Given the description of an element on the screen output the (x, y) to click on. 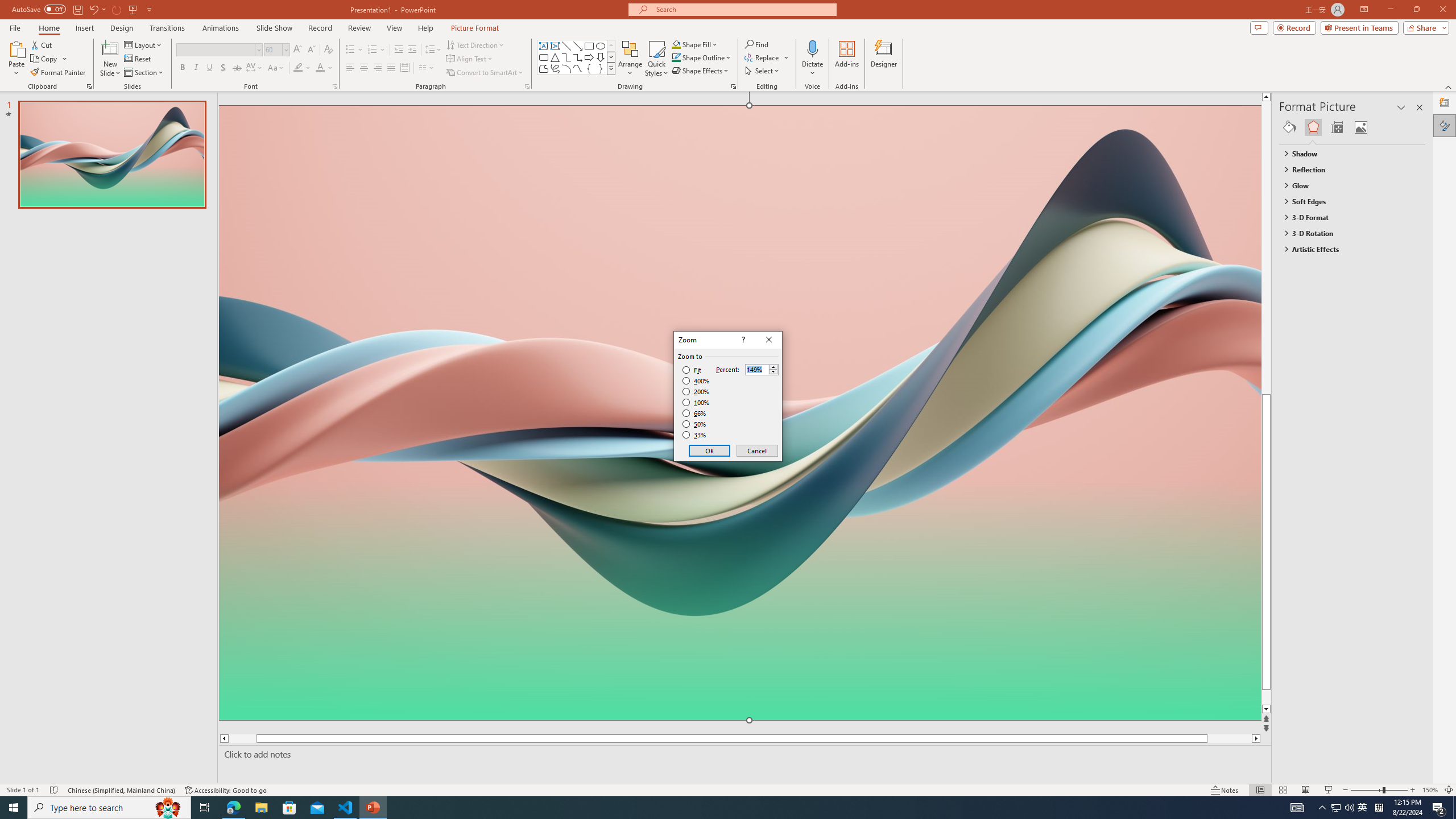
Context help (742, 339)
Glow (1347, 185)
400% (696, 380)
